Given the description of an element on the screen output the (x, y) to click on. 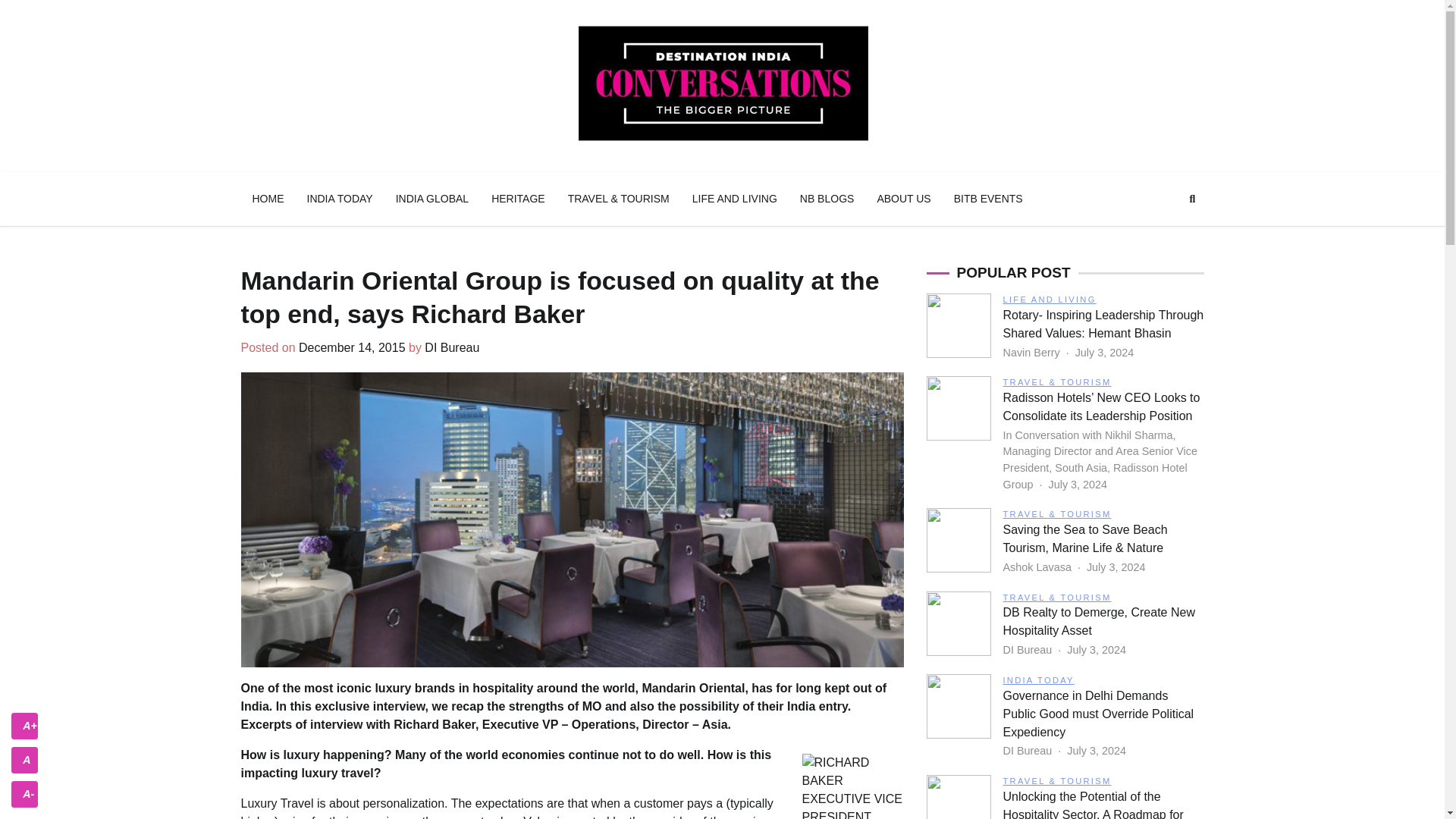
ABOUT US (903, 198)
NB BLOGS (827, 198)
BITB EVENTS (987, 198)
INDIA GLOBAL (432, 198)
LIFE AND LIVING (735, 198)
INDIA TODAY (339, 198)
Navin Berry (1032, 352)
DI Bureau (452, 347)
HOME (268, 198)
HERITAGE (518, 198)
LIFE AND LIVING (1049, 298)
July 3, 2024 (1104, 352)
Search (1192, 199)
Search (1164, 234)
